Given the description of an element on the screen output the (x, y) to click on. 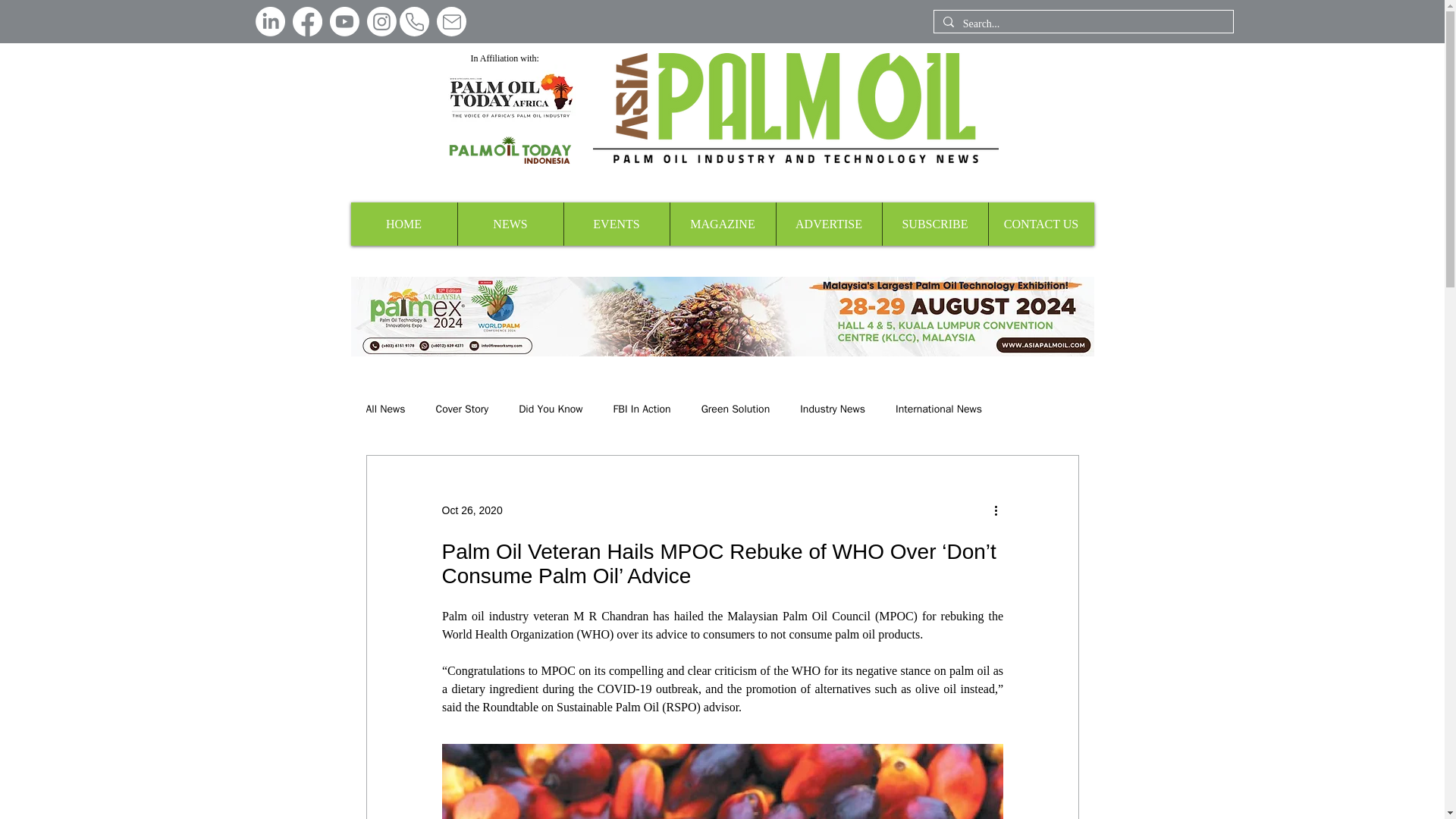
All News (384, 409)
FBI In Action (641, 409)
ADVERTISE (827, 223)
SUBSCRIBE (933, 223)
International News (938, 409)
Oct 26, 2020 (471, 509)
HOME (403, 223)
EVENTS (615, 223)
Did You Know (550, 409)
NEWS (509, 223)
Industry News (831, 409)
Cover Story (462, 409)
CONTACT US (1040, 223)
MAGAZINE (721, 223)
Green Solution (735, 409)
